Given the description of an element on the screen output the (x, y) to click on. 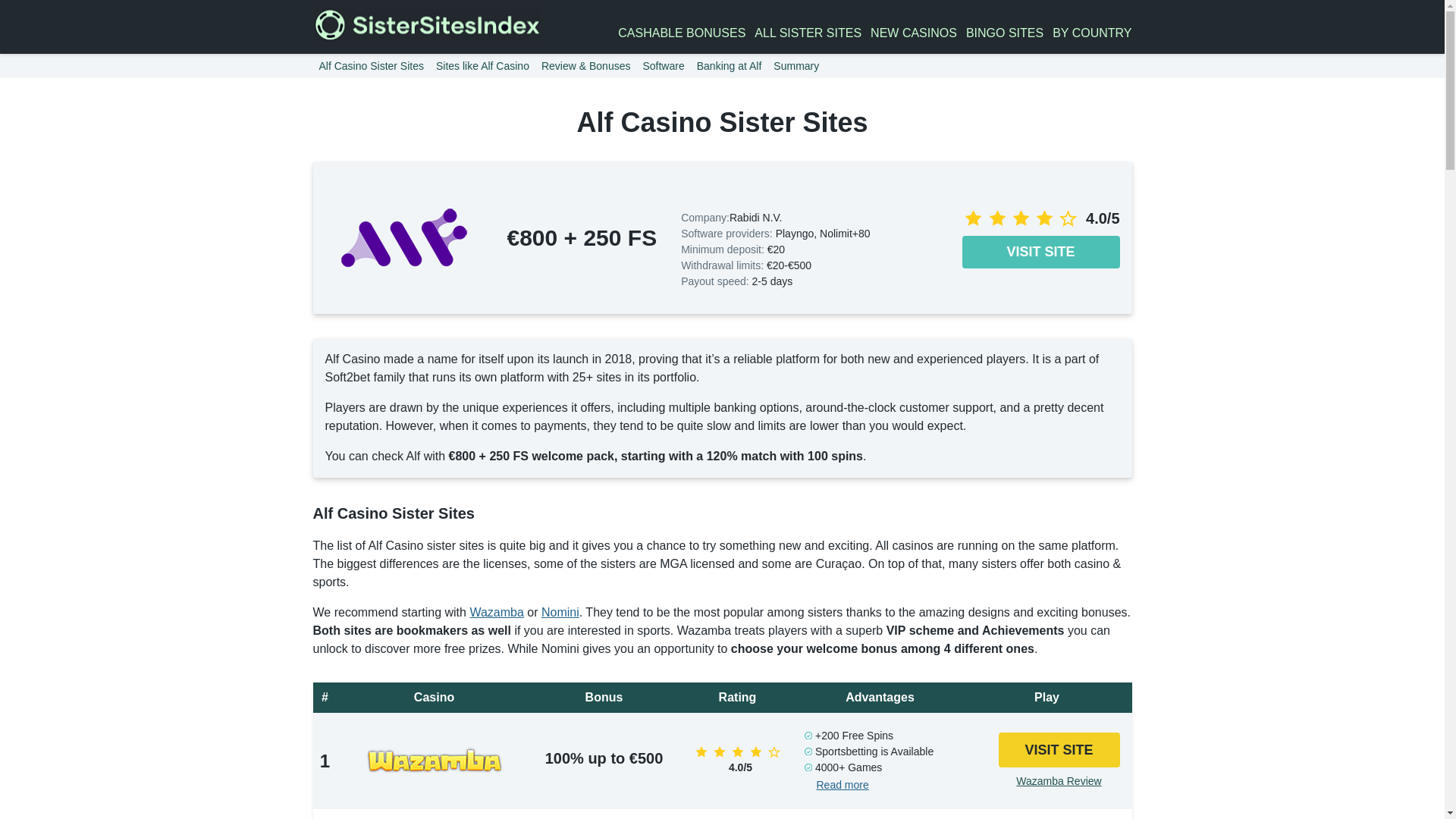
VISIT SITE (1058, 750)
Nomini (560, 612)
Read more (841, 784)
ALL SISTER SITES (807, 33)
Wazamba Review (1058, 781)
Software (663, 65)
BINGO SITES (1004, 33)
Sites like Alf Casino (482, 65)
Alf Casino Sister Sites (371, 65)
VISIT SITE (1039, 251)
NEW CASINOS (913, 33)
BY COUNTRY (1091, 33)
Banking at Alf (729, 65)
Wazamba (495, 612)
Summary (796, 65)
